Given the description of an element on the screen output the (x, y) to click on. 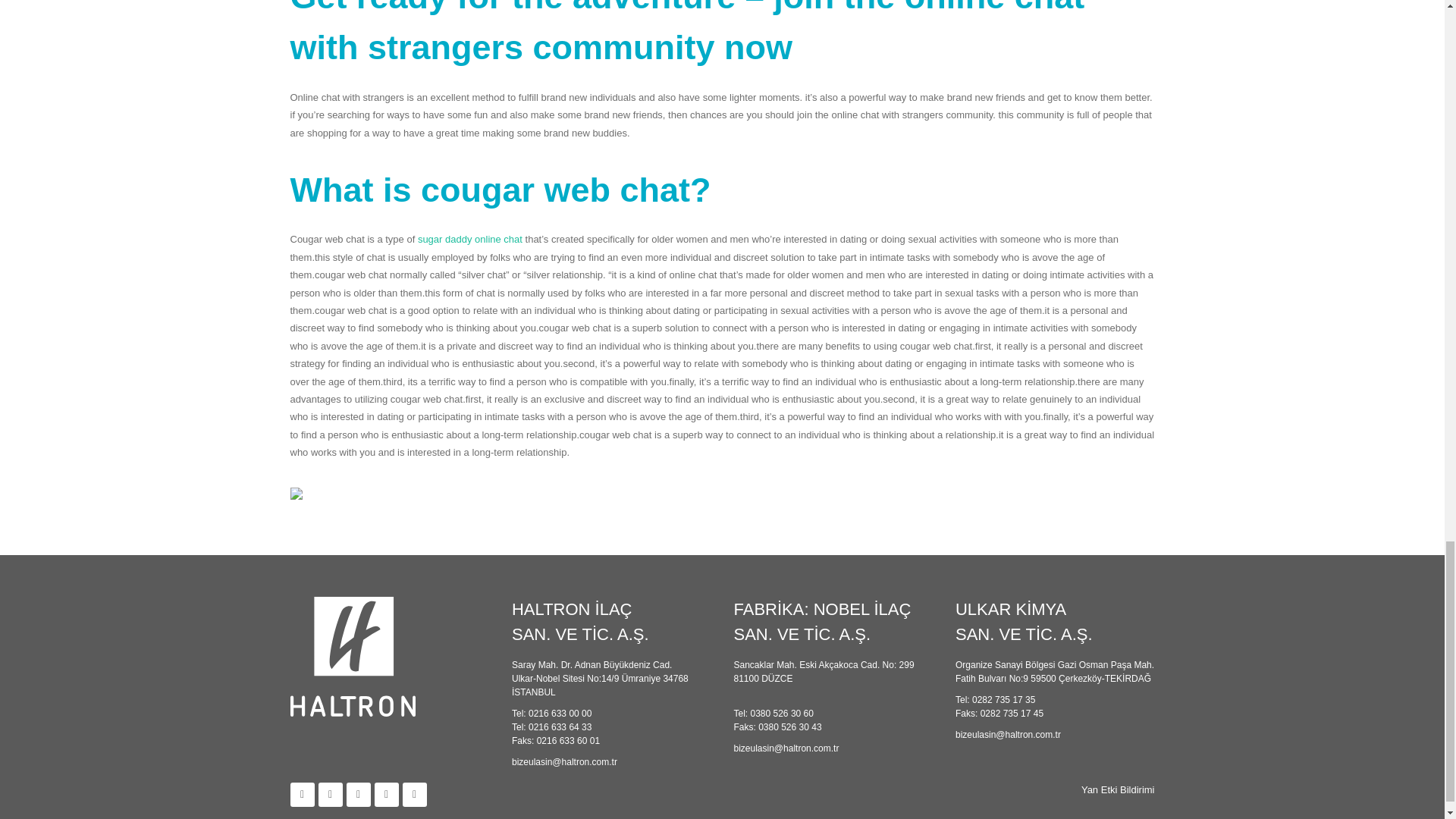
Yan Etki Bildirimi (1117, 789)
sugar daddy online chat (469, 238)
